Given the description of an element on the screen output the (x, y) to click on. 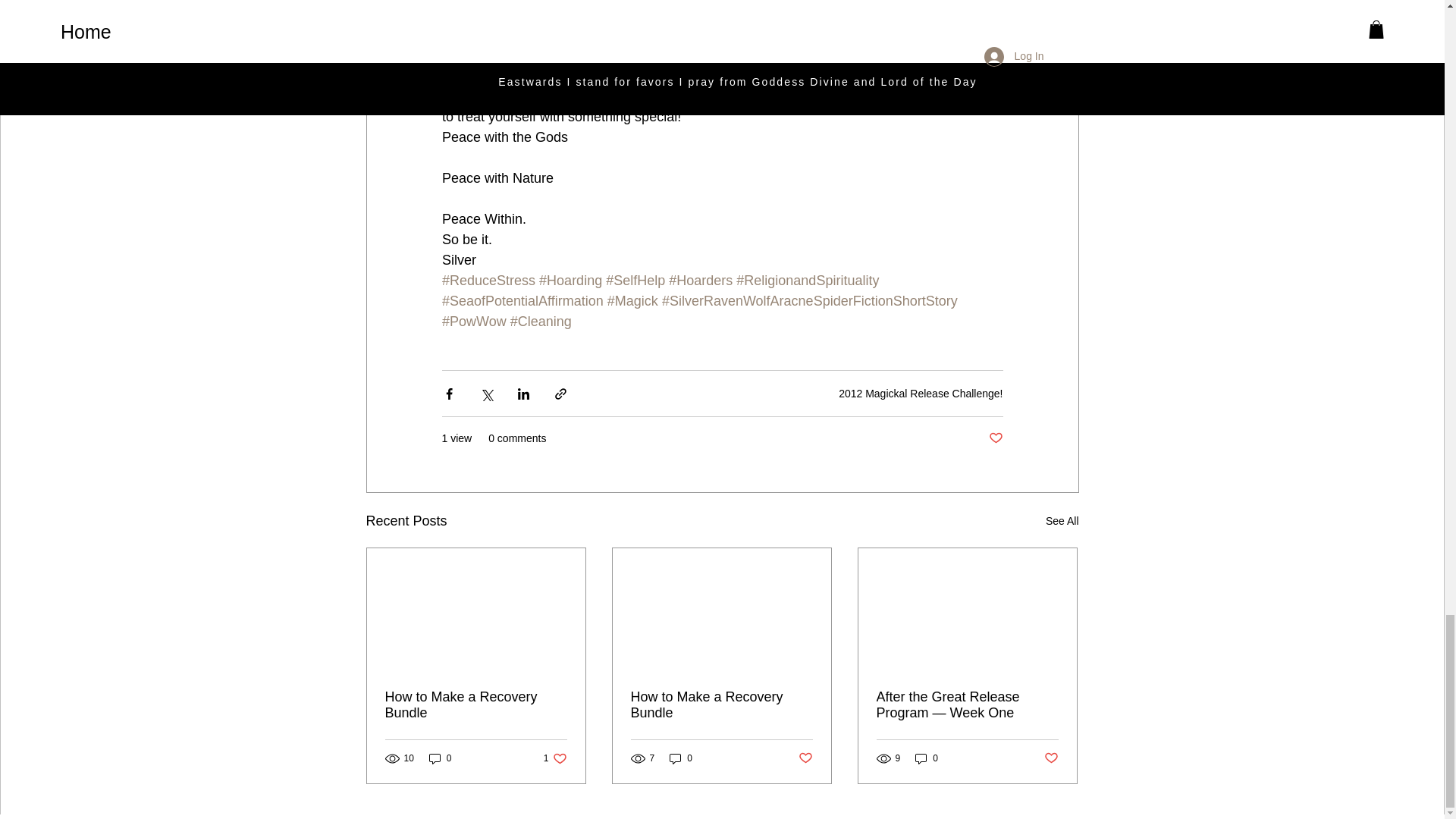
Post not marked as liked (995, 438)
2012 Magickal Release Challenge! (920, 393)
